Given the description of an element on the screen output the (x, y) to click on. 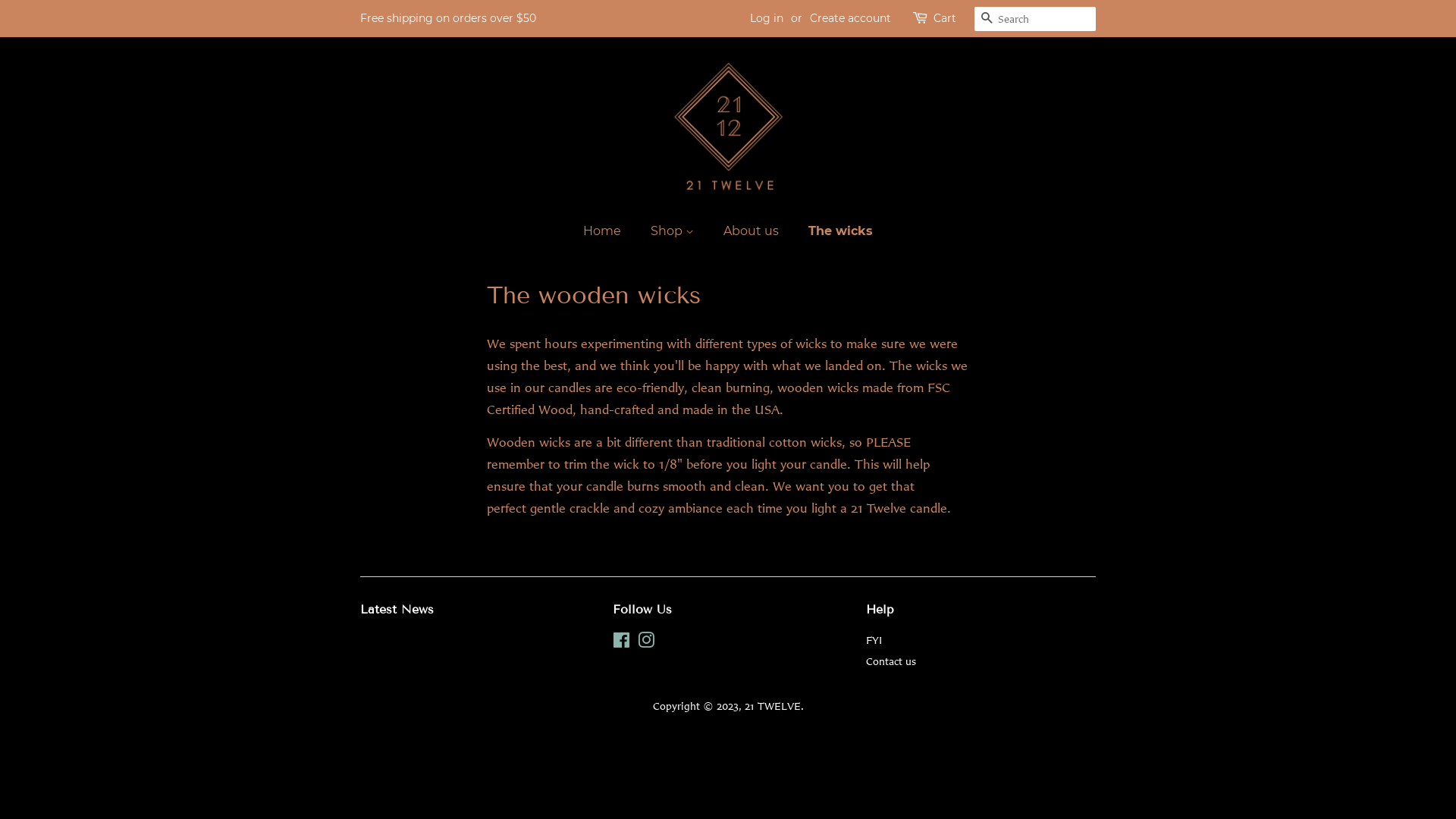
Contact us Element type: text (891, 660)
FYI Element type: text (873, 639)
Shop Element type: text (674, 230)
Create account Element type: text (850, 18)
The wicks Element type: text (834, 230)
Cart Element type: text (944, 18)
Facebook Element type: text (621, 642)
Latest News Element type: text (396, 609)
Home Element type: text (609, 230)
Log in Element type: text (766, 18)
About us Element type: text (752, 230)
Search Element type: text (986, 18)
Instagram Element type: text (645, 642)
21 TWELVE Element type: text (772, 705)
